Given the description of an element on the screen output the (x, y) to click on. 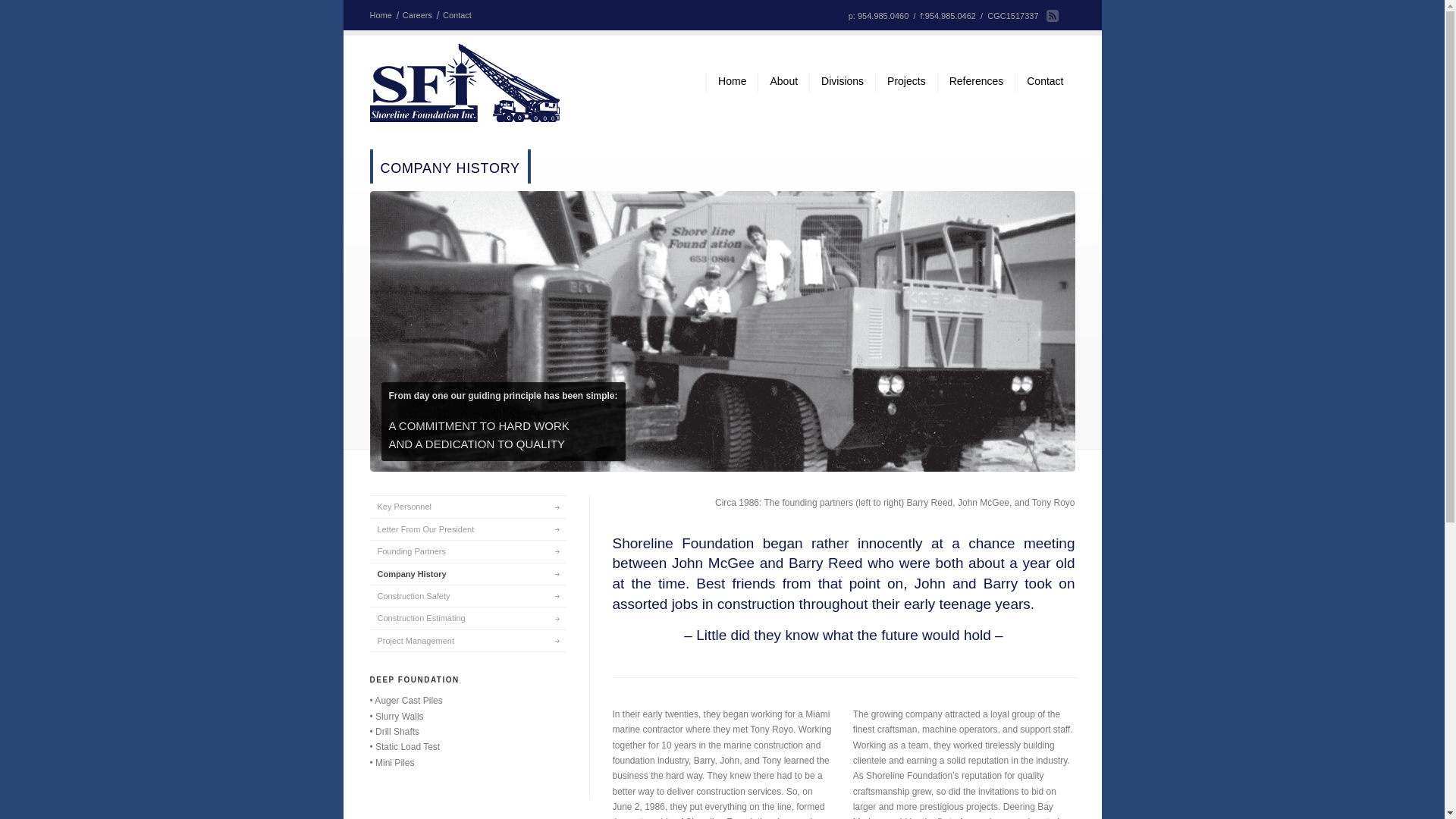
Careers (421, 14)
Projects (906, 81)
Construction Safety (467, 595)
Company History (467, 573)
SFI (464, 82)
Home (383, 14)
Construction Estimating (467, 617)
Divisions (842, 81)
Subscribe to our RSS Feed (1052, 15)
Contact (460, 14)
Home (731, 81)
Key Personnel (467, 505)
References (975, 81)
Founding Partners (467, 550)
